Given the description of an element on the screen output the (x, y) to click on. 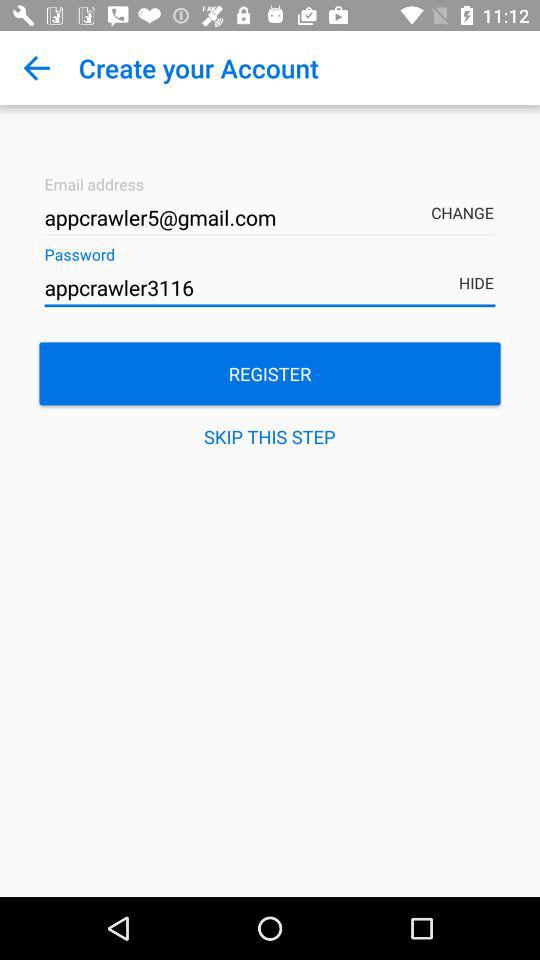
choose the icon above the register item (269, 288)
